Given the description of an element on the screen output the (x, y) to click on. 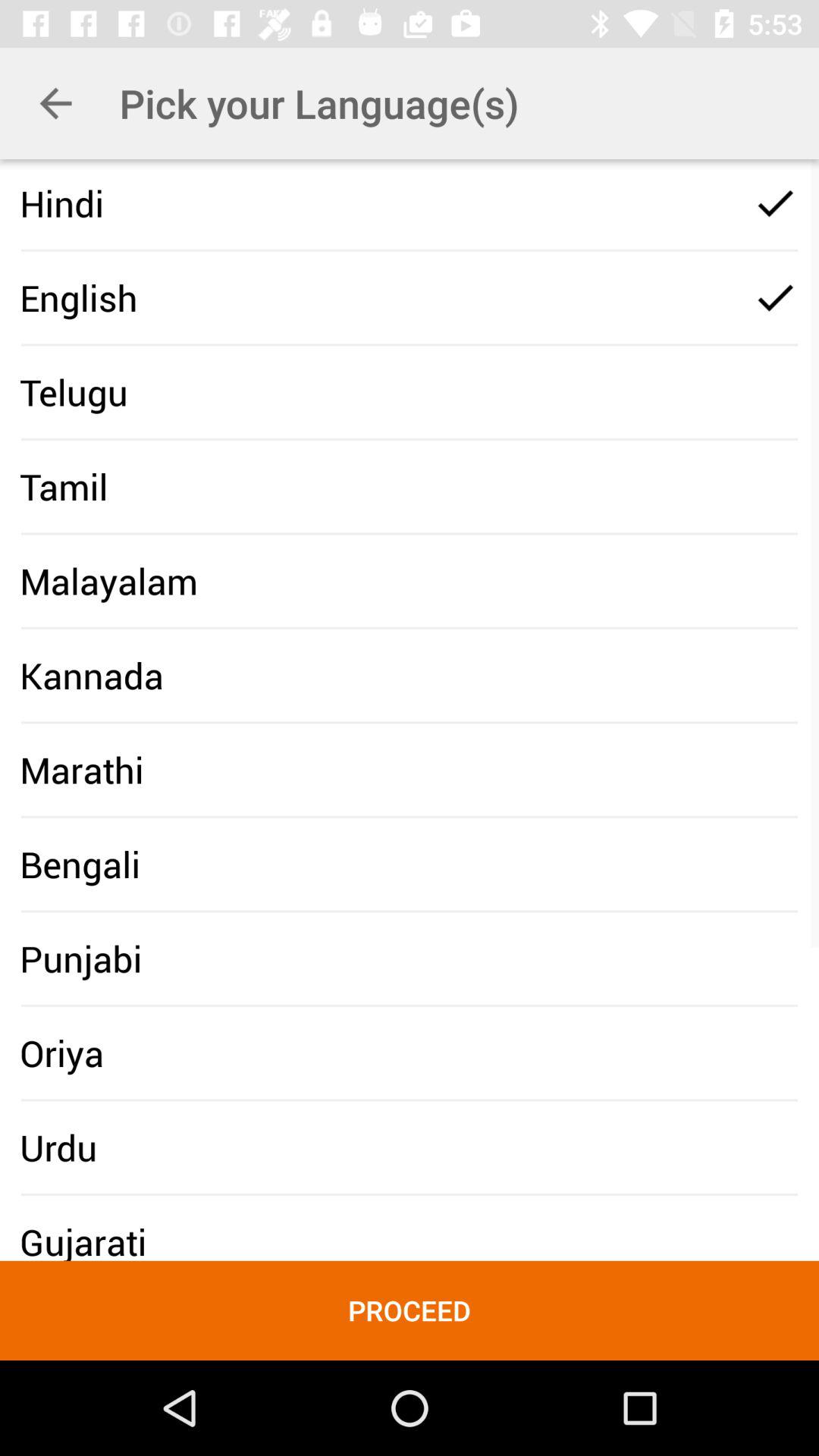
jump until the gujarati item (82, 1241)
